Given the description of an element on the screen output the (x, y) to click on. 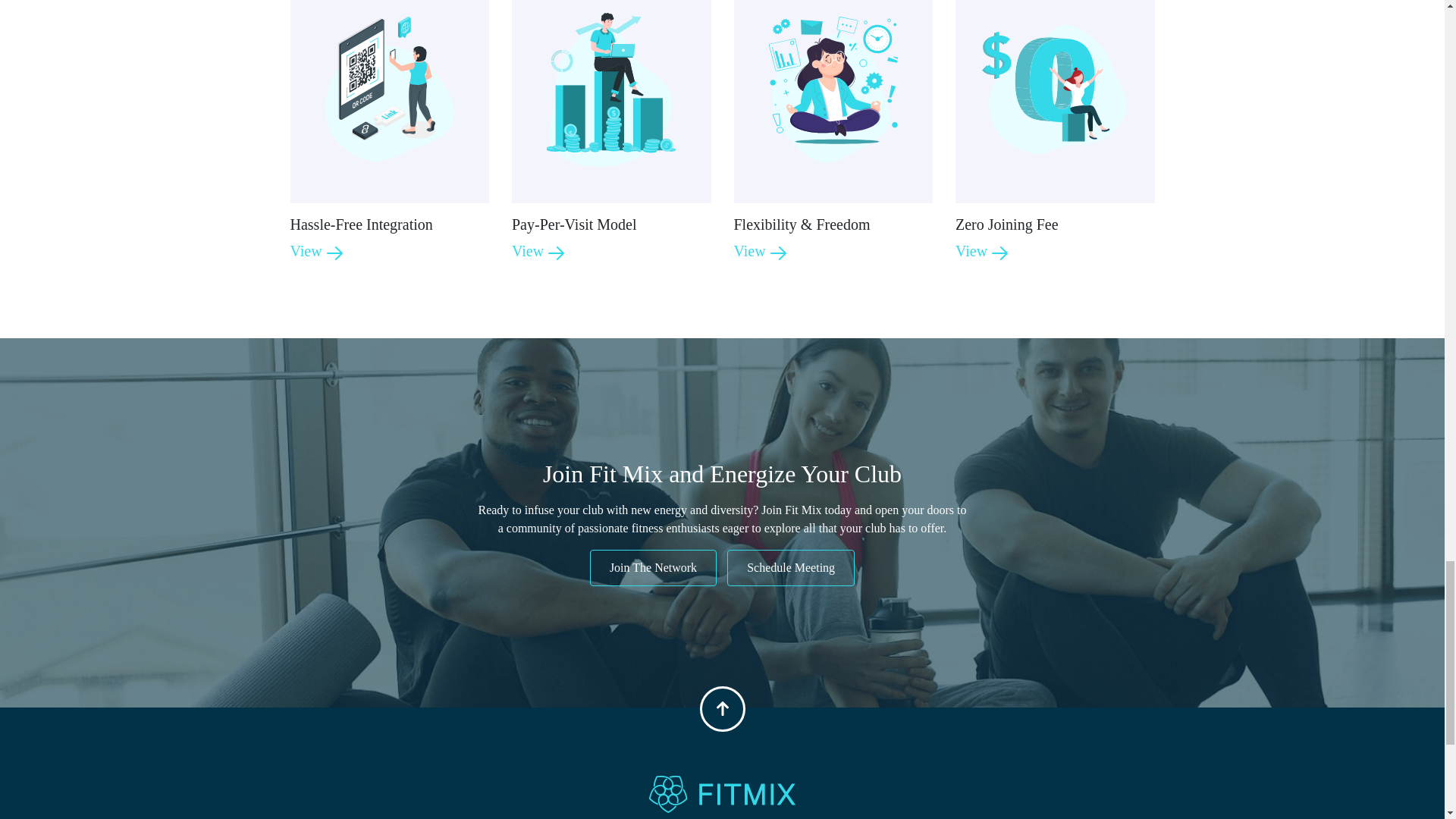
Schedule Meeting (790, 567)
Join The Network (652, 567)
View (982, 250)
View (316, 250)
View (539, 250)
View (760, 250)
